Given the description of an element on the screen output the (x, y) to click on. 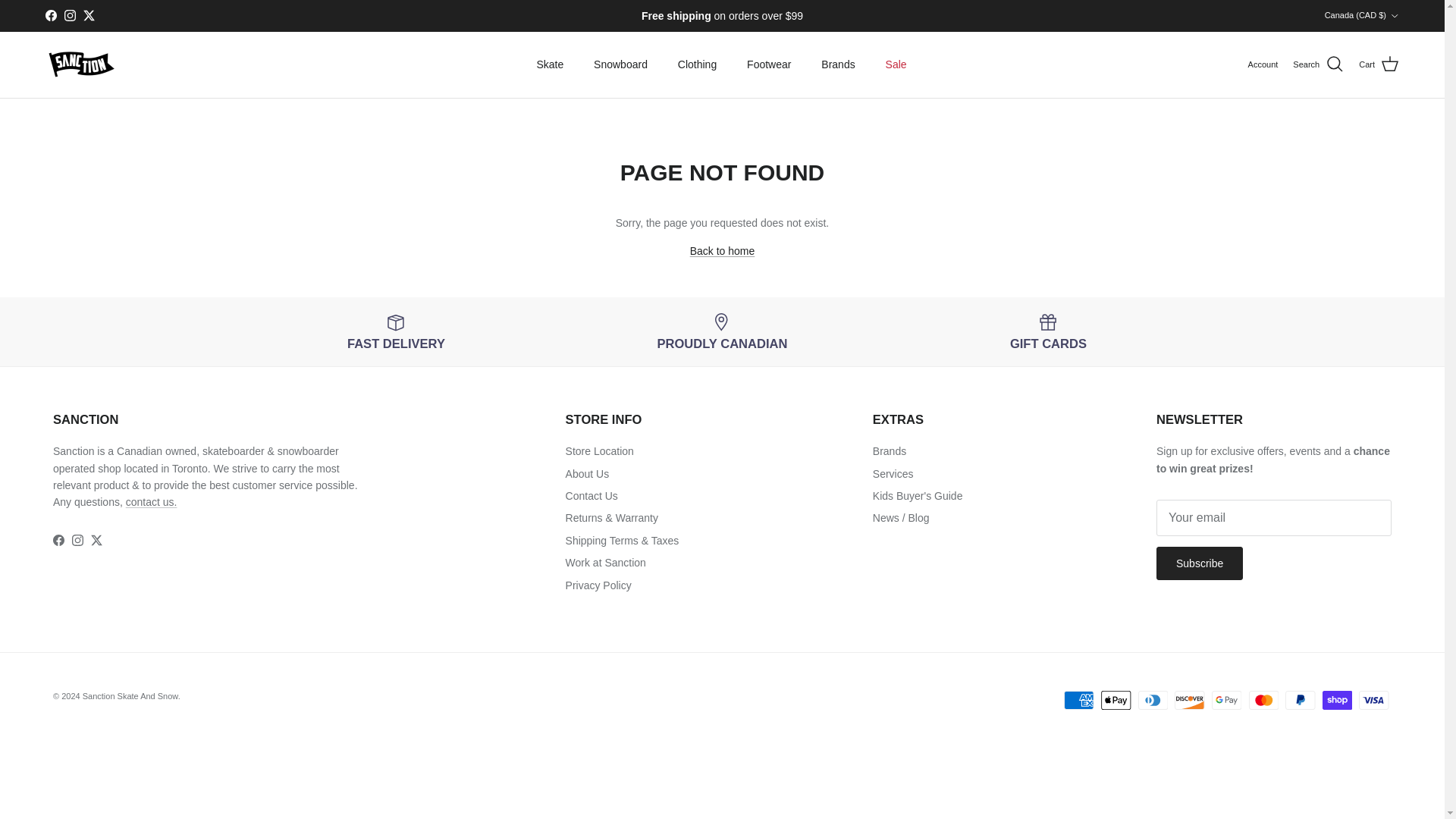
Skate (549, 64)
Search (1317, 64)
Instagram (69, 15)
Apple Pay (1115, 700)
Brands (837, 64)
Diners Club (1152, 700)
Google Pay (1226, 700)
Snowboard (620, 64)
Sanction Skate And Snow on Facebook (50, 15)
Twitter (88, 15)
